Given the description of an element on the screen output the (x, y) to click on. 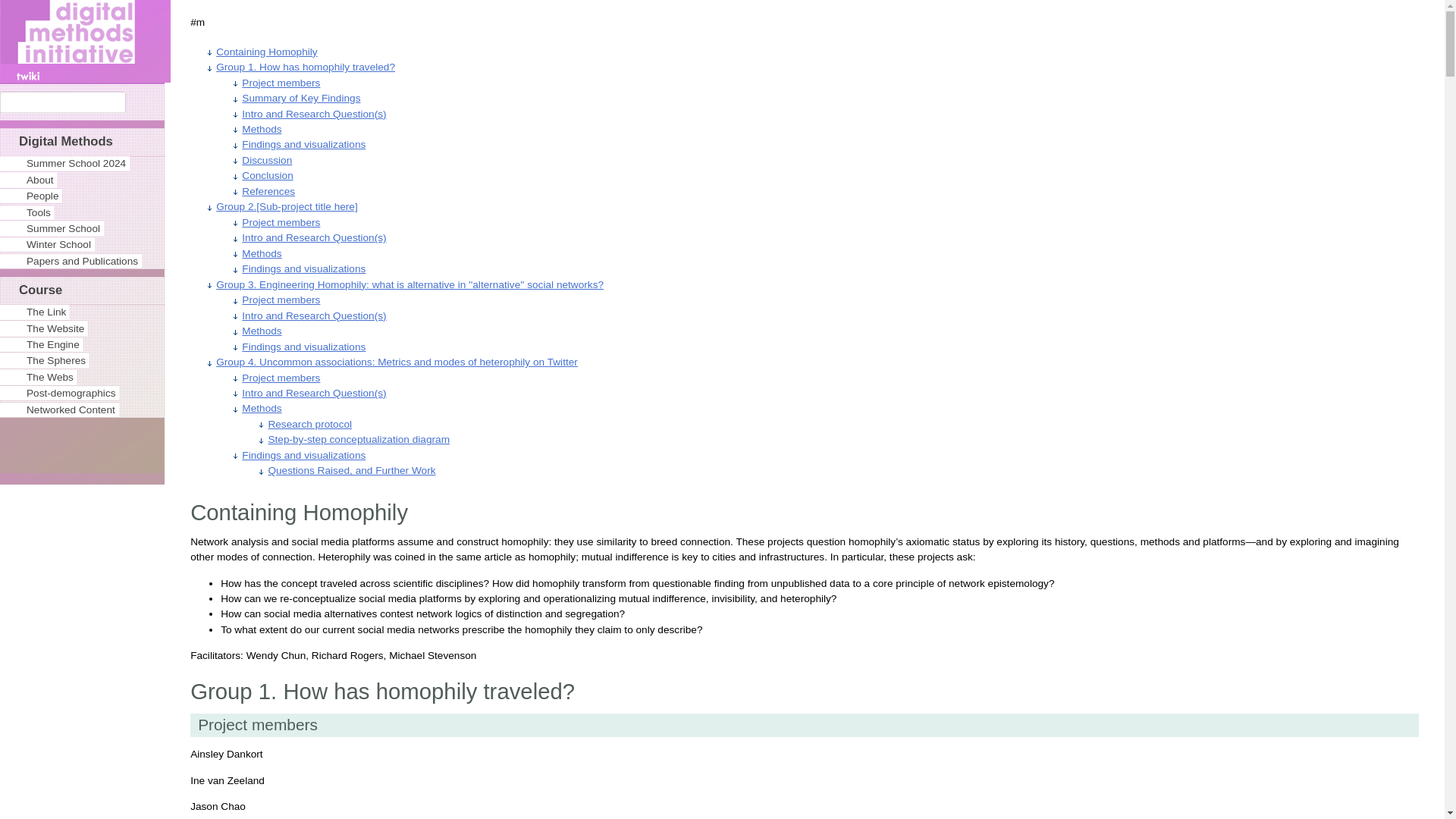
Group 1. How has homophily traveled? (304, 66)
References (268, 191)
Findings and visualizations (303, 455)
Project members (280, 299)
Containing Homophily (266, 51)
Methods (261, 253)
Findings and visualizations (303, 346)
Step-by-step conceptualization diagram (358, 439)
Discussion (266, 160)
Project members (280, 222)
Research protocol (309, 423)
Methods (261, 408)
Project members (280, 378)
